Given the description of an element on the screen output the (x, y) to click on. 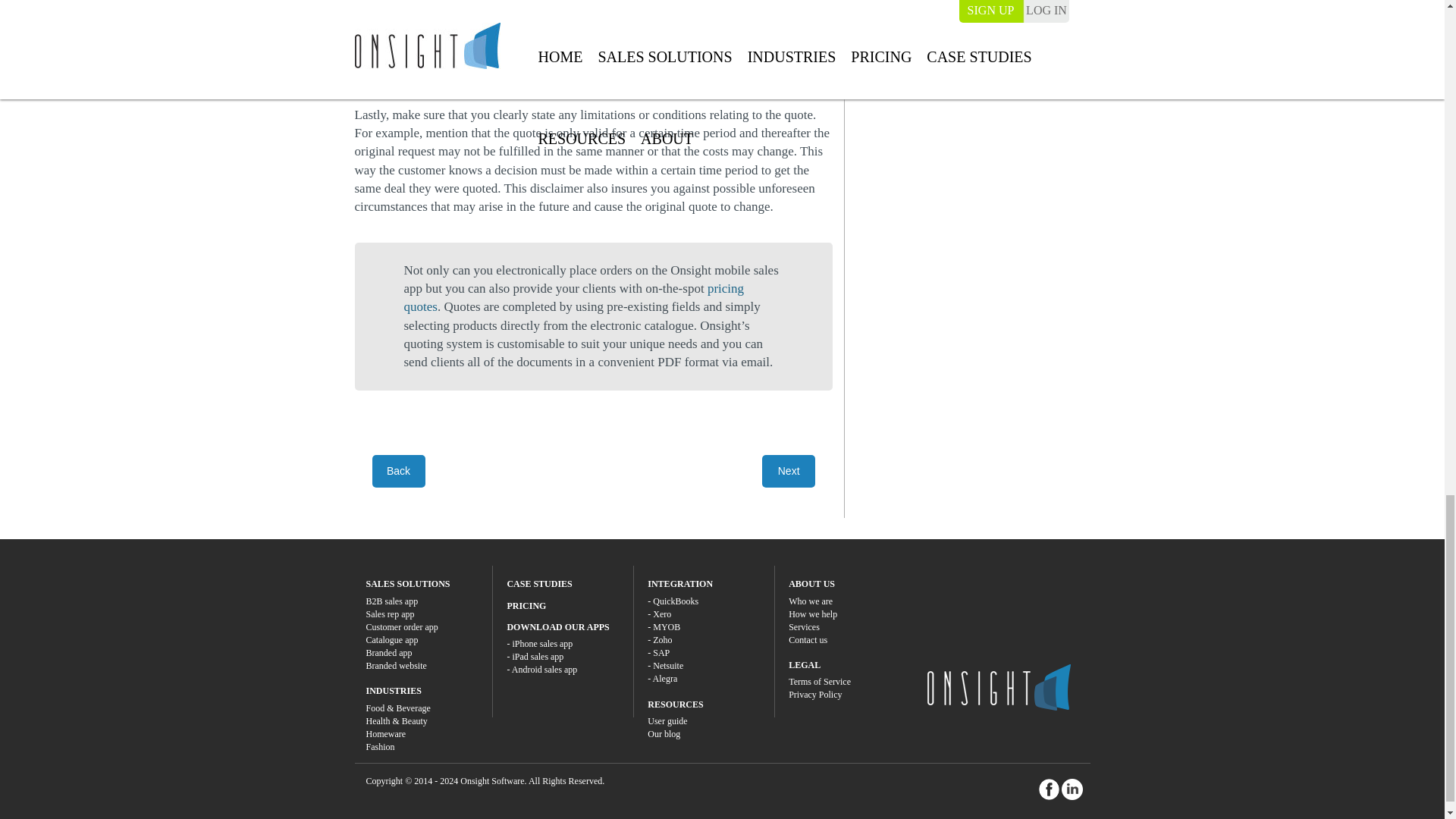
LinkedIn (1072, 789)
Onsight (998, 687)
Facebook (1049, 789)
